Given the description of an element on the screen output the (x, y) to click on. 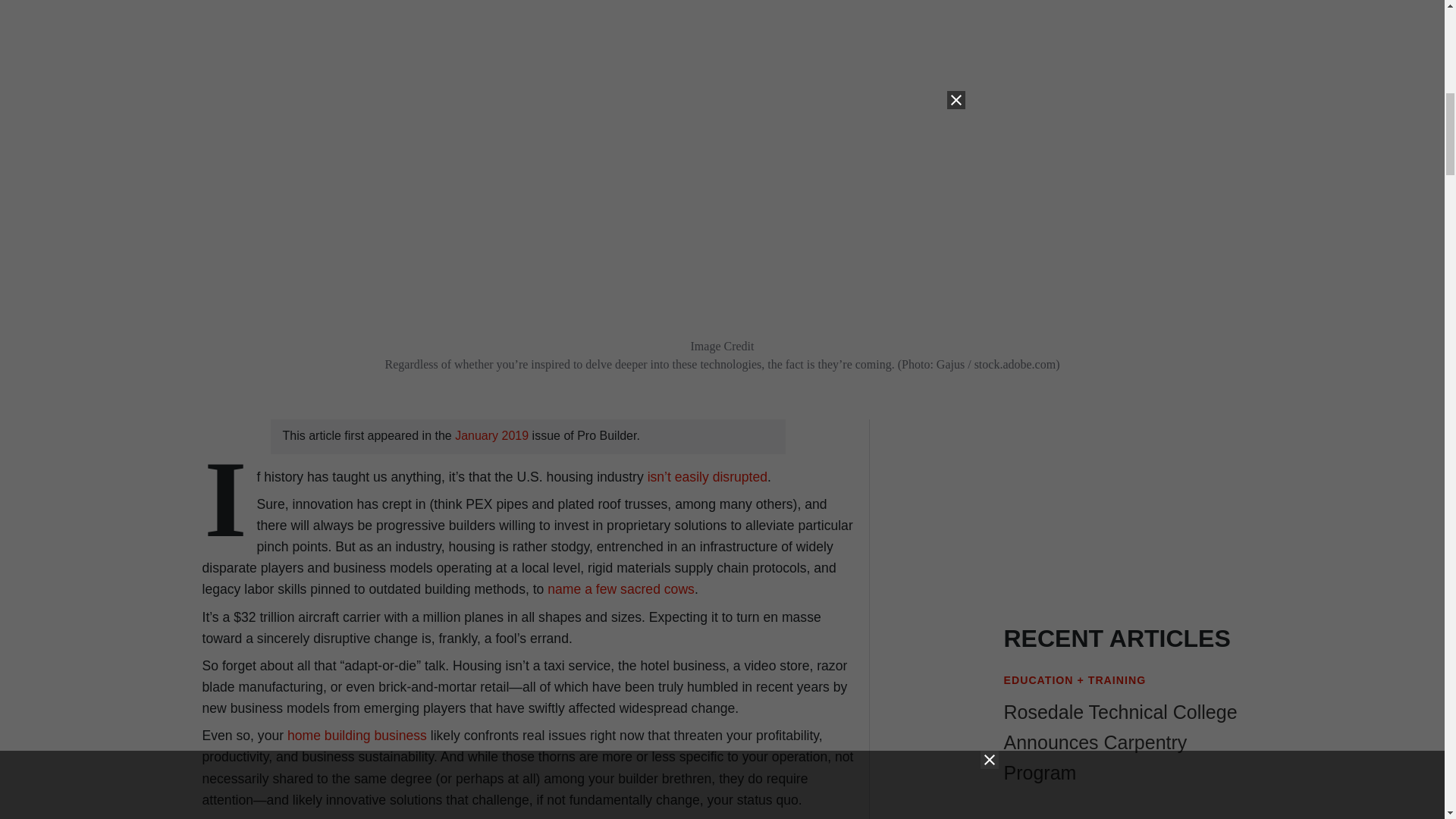
home building business (356, 735)
January 2019 (492, 435)
3rd party ad content (1130, 506)
name a few sacred cows (620, 589)
